Given the description of an element on the screen output the (x, y) to click on. 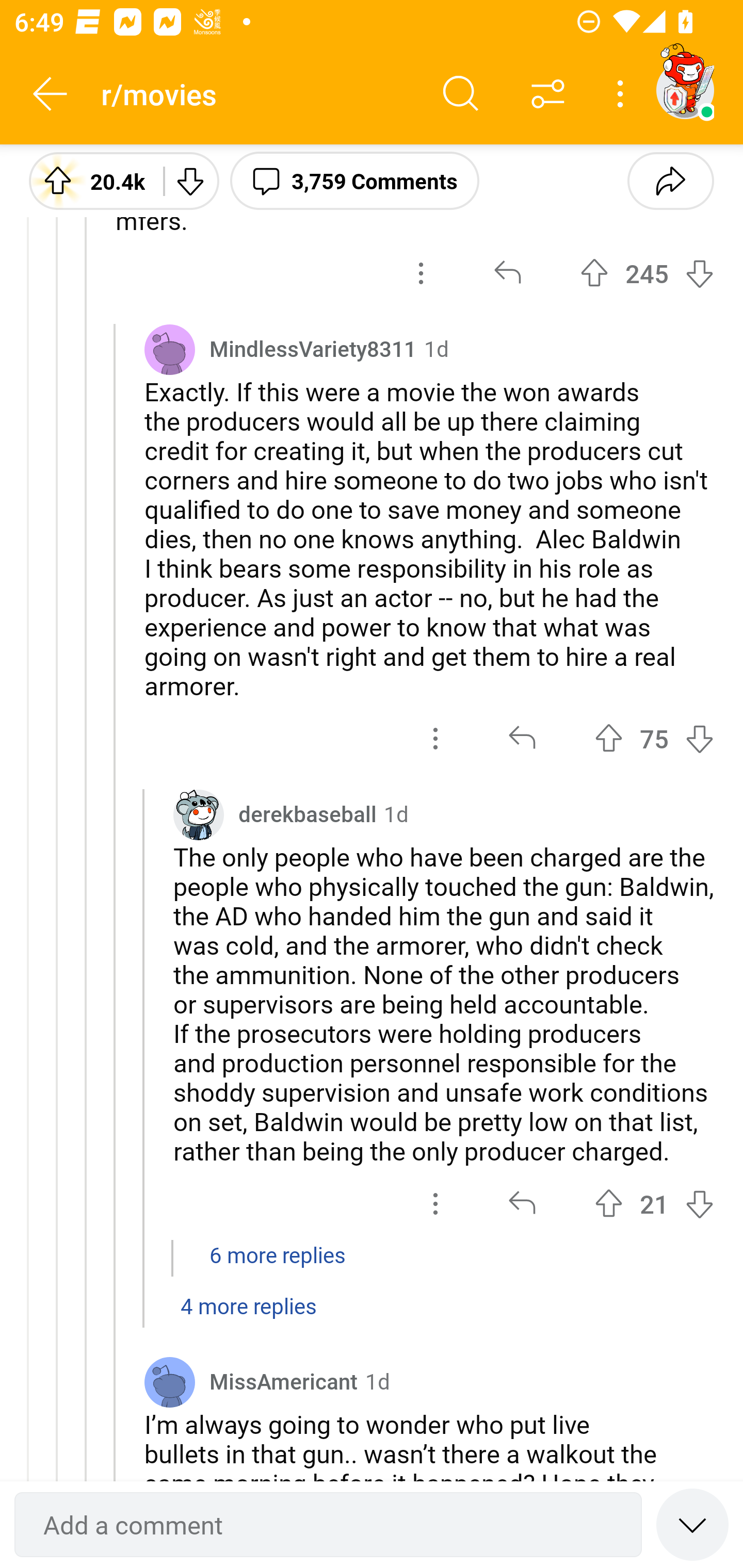
Back (50, 93)
TestAppium002 account (685, 90)
Search comments (460, 93)
Sort comments (547, 93)
More options (623, 93)
r/movies (259, 92)
Upvote 20.4k (88, 180)
Downvote (189, 180)
3,759 Comments (354, 180)
Share (670, 180)
options (420, 272)
Upvote 245 245 votes Downvote (647, 272)
Avatar (169, 349)
options (435, 738)
Upvote 75 75 votes Downvote (654, 738)
Custom avatar (198, 815)
options (435, 1204)
Upvote 21 21 votes Downvote (654, 1204)
6 more replies (371, 1265)
4 more replies (371, 1316)
Avatar (169, 1381)
Speed read (692, 1524)
Add a comment (327, 1524)
